Given the description of an element on the screen output the (x, y) to click on. 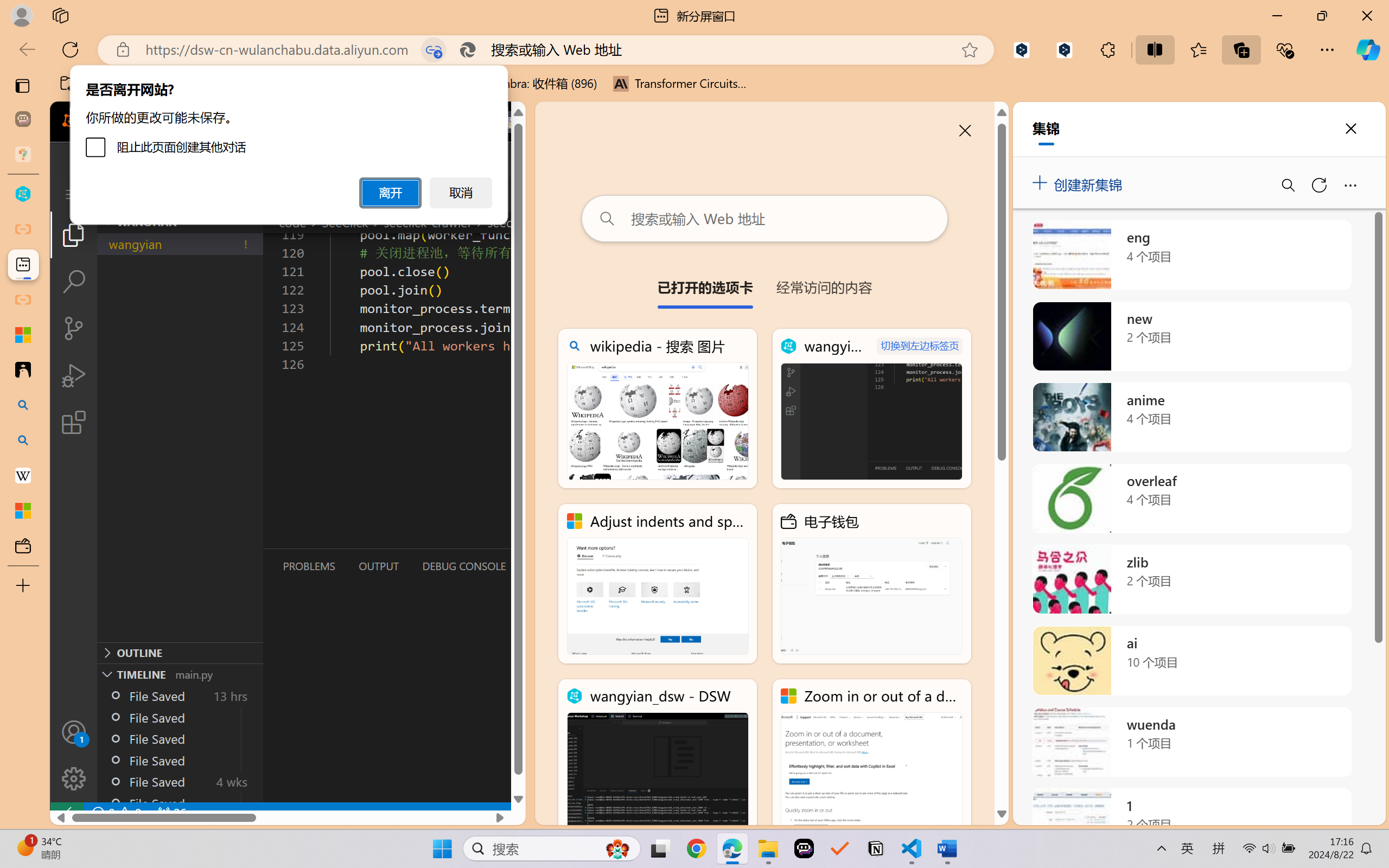
Manage (73, 755)
Run and Debug (Ctrl+Shift+D) (73, 375)
Adjust indents and spacing - Microsoft Support (657, 583)
Google Chrome (696, 848)
